Given the description of an element on the screen output the (x, y) to click on. 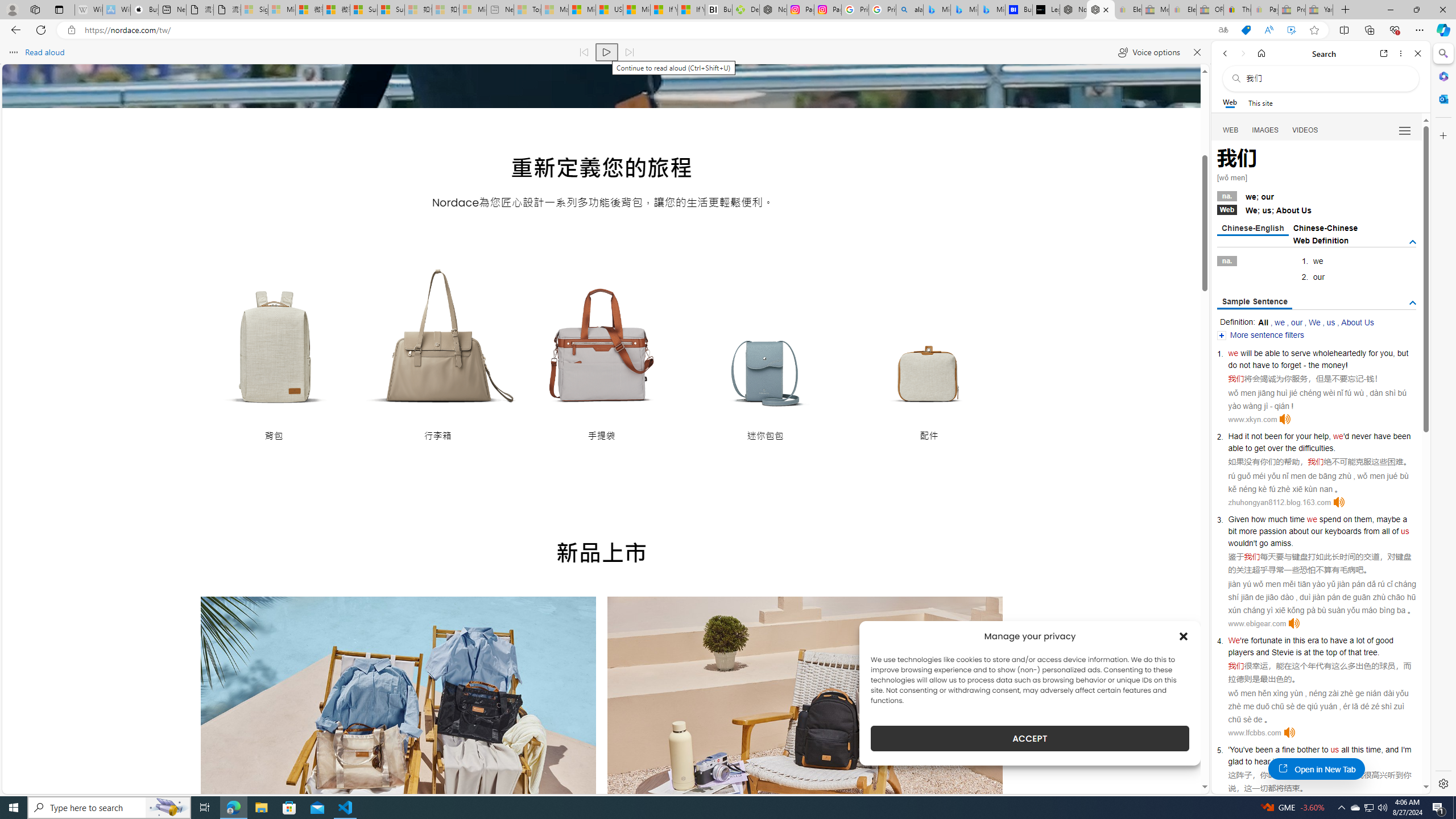
Descarga Driver Updater (746, 9)
AutomationID: tgdef (1412, 241)
Enhance video (1291, 29)
'm (1407, 749)
is (1298, 651)
lot (1360, 640)
Threats and offensive language policy | eBay (1236, 9)
